Given the description of an element on the screen output the (x, y) to click on. 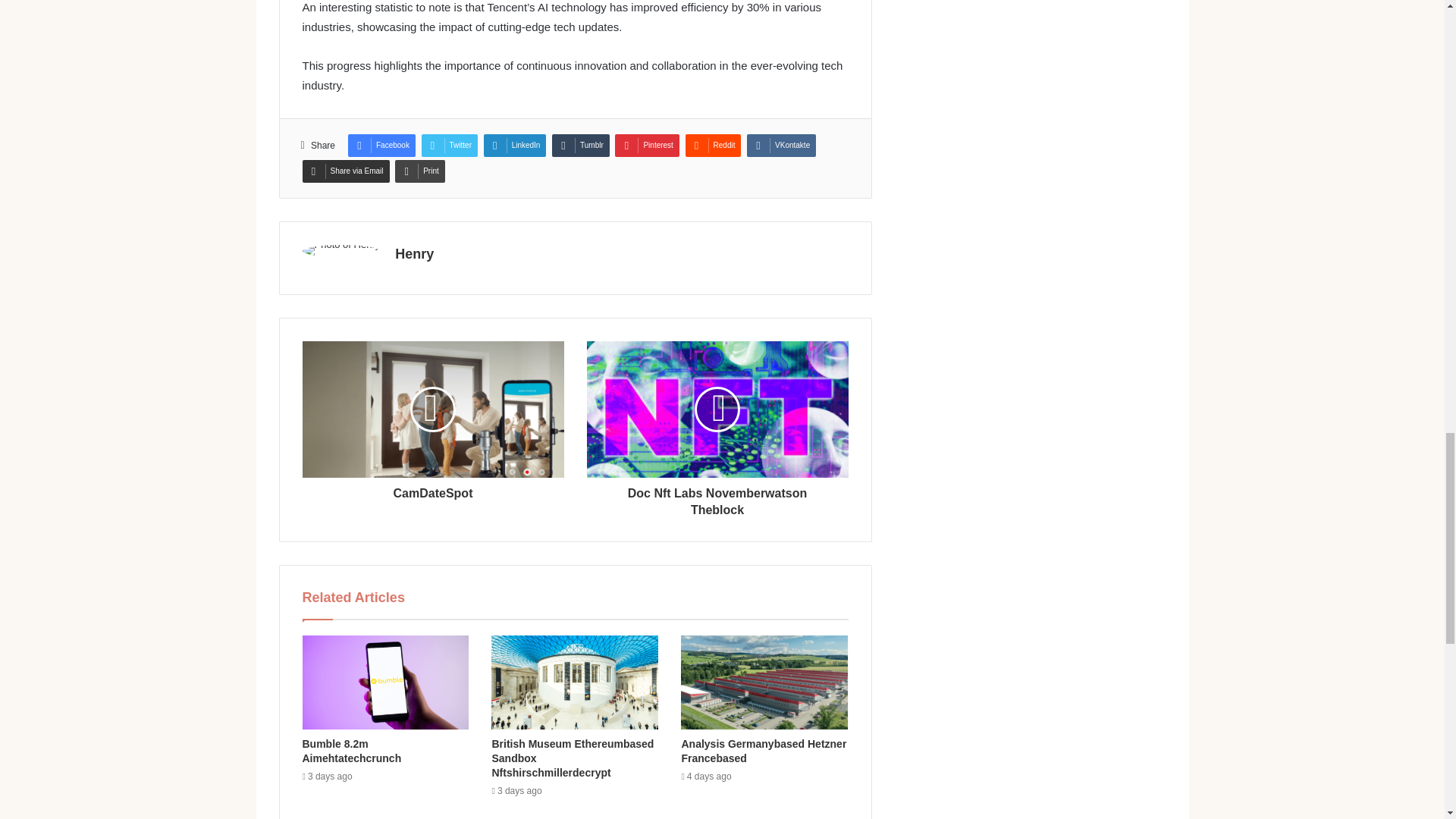
Pinterest (646, 145)
Tumblr (580, 145)
LinkedIn (515, 145)
Facebook (380, 145)
Pinterest (646, 145)
Twitter (449, 145)
LinkedIn (515, 145)
Share via Email (344, 170)
Tumblr (580, 145)
Twitter (449, 145)
Print (419, 170)
VKontakte (780, 145)
Facebook (380, 145)
Reddit (713, 145)
